Given the description of an element on the screen output the (x, y) to click on. 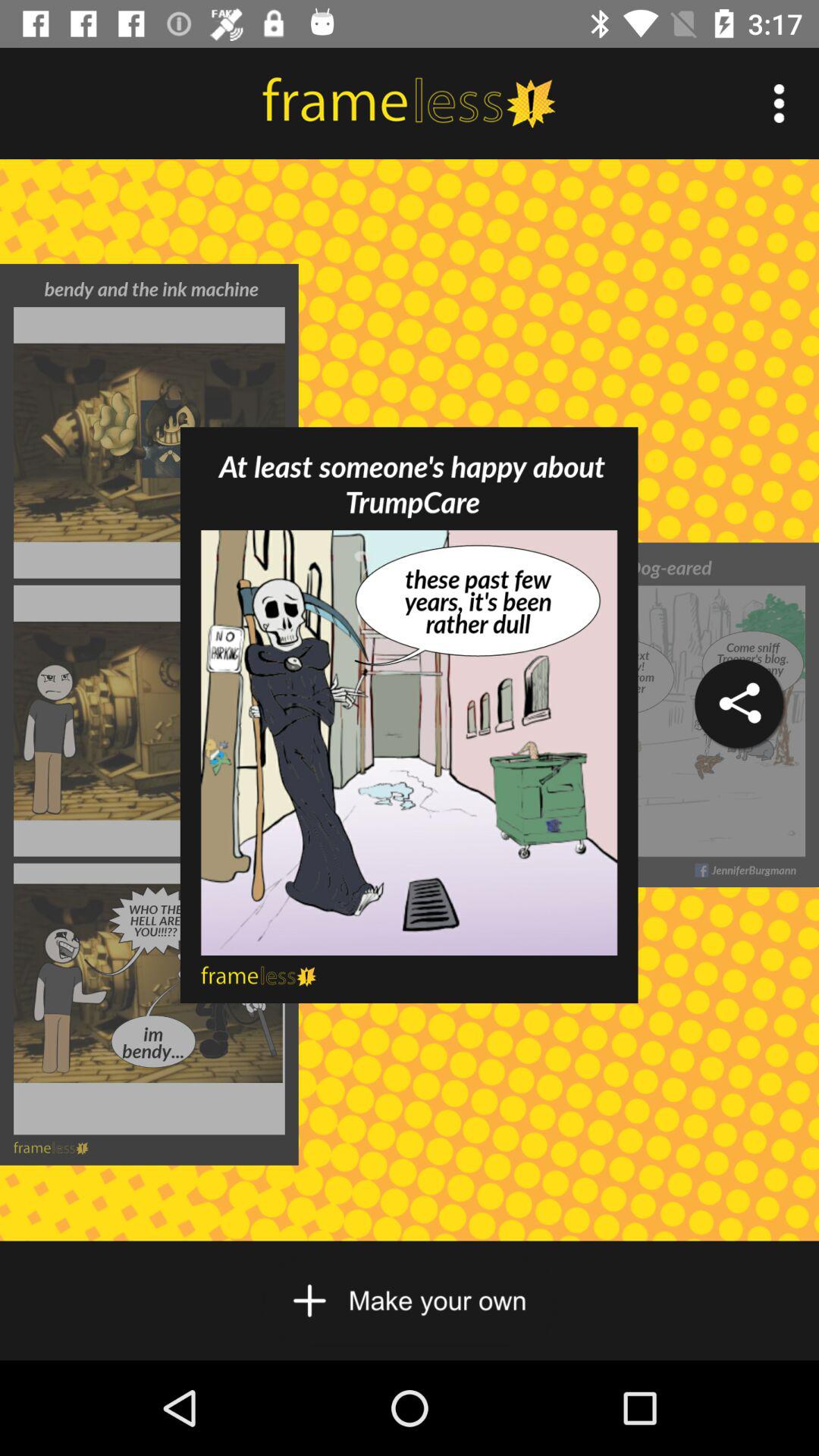
more info (779, 103)
